Given the description of an element on the screen output the (x, y) to click on. 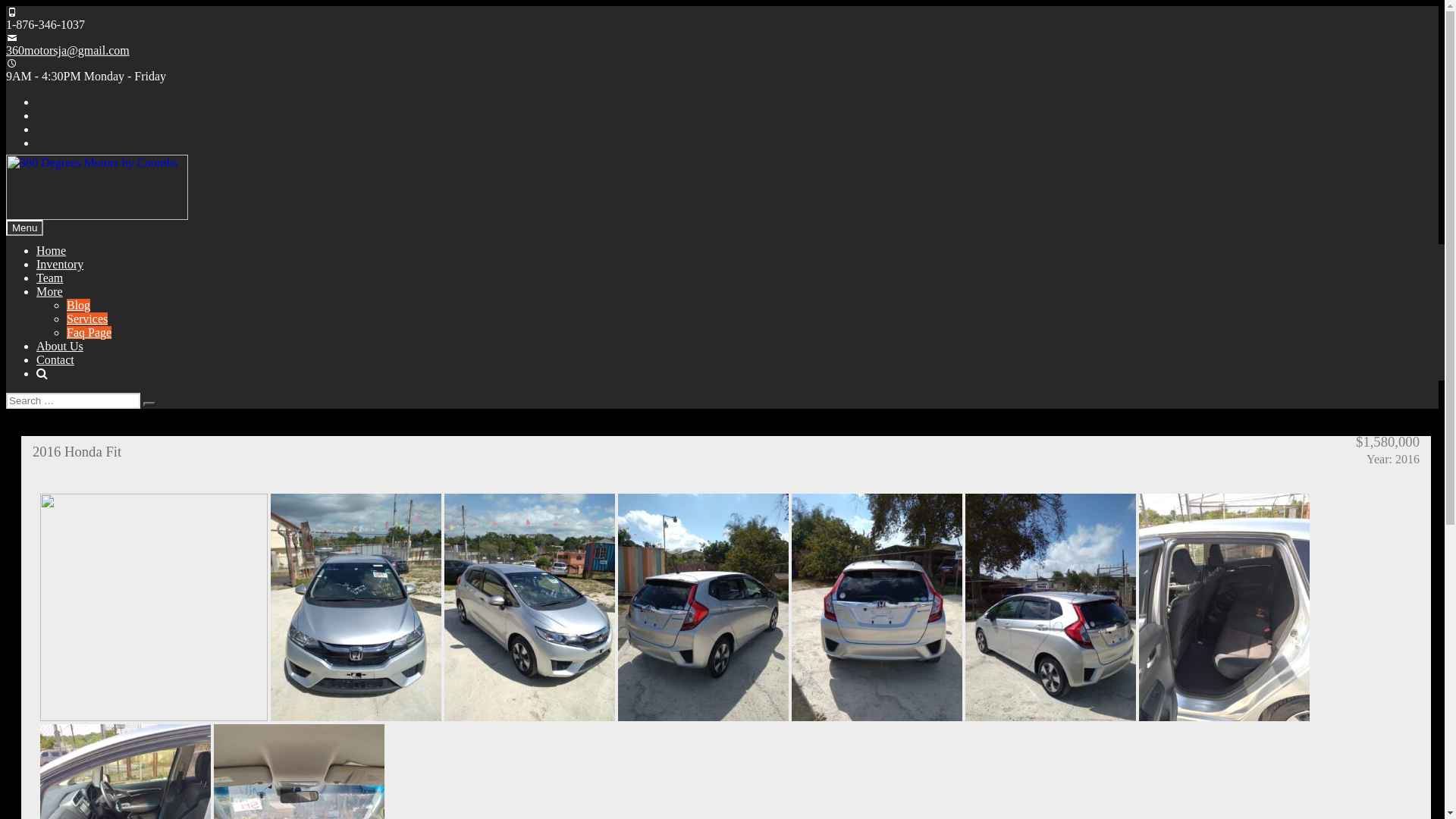
genericon-phone Element type: hover (12, 12)
genericon-mail Element type: hover (12, 37)
Skip to content Element type: text (5, 5)
Home Element type: text (50, 250)
Faq Page Element type: text (88, 332)
Contact Element type: text (55, 359)
Search Element type: text (149, 403)
More Element type: text (49, 291)
Team Element type: text (49, 277)
About Us Element type: text (59, 345)
Menu Element type: text (24, 227)
Blog Element type: text (78, 304)
Services Element type: text (86, 318)
360motorsja@gmail.com Element type: text (67, 49)
Inventory Element type: text (59, 263)
